Given the description of an element on the screen output the (x, y) to click on. 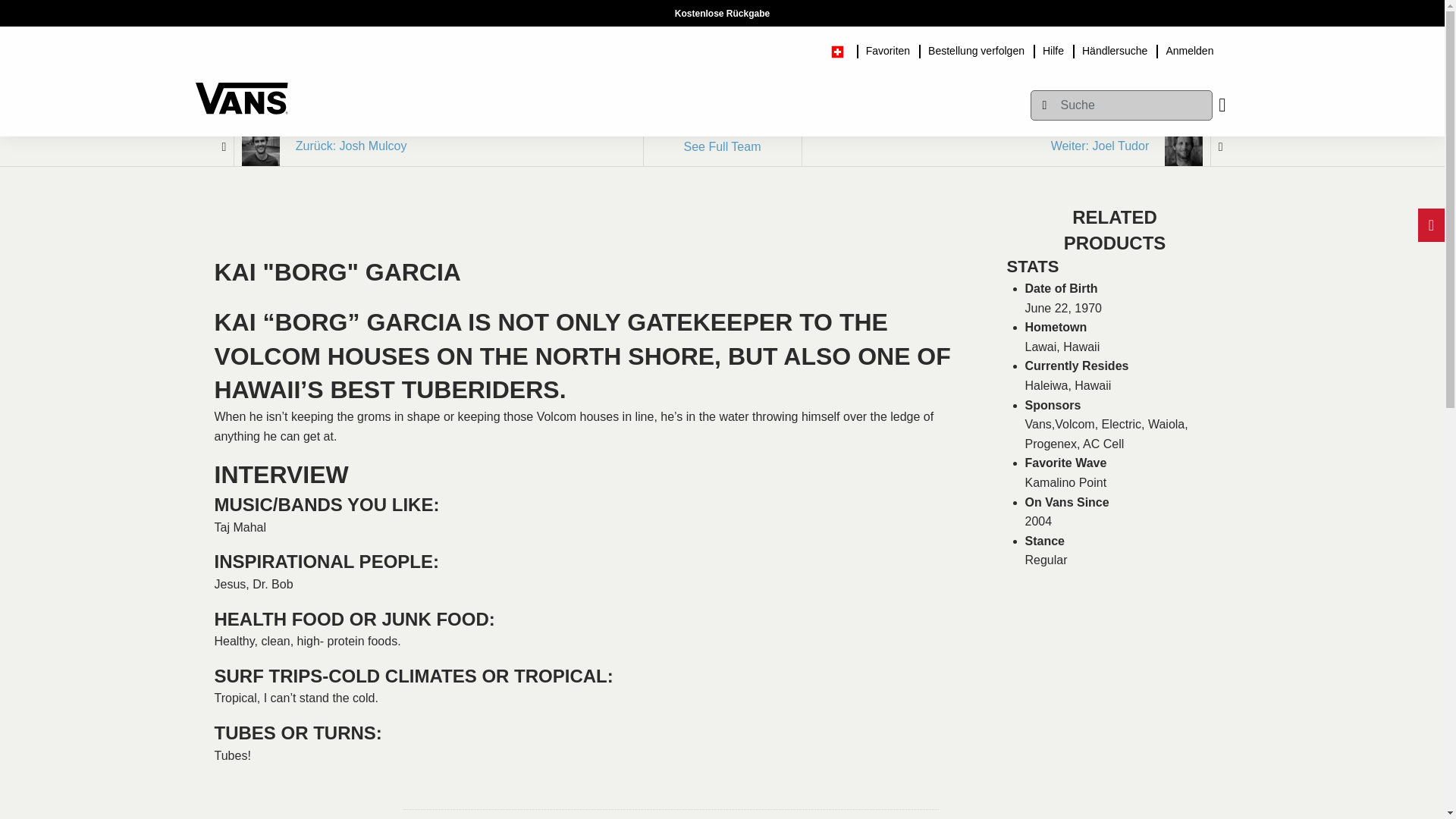
Hilfe (1053, 48)
Bestellung verfolgen (975, 48)
Bestellung verfolgen (975, 48)
Favoriten (887, 48)
Anmelden (1189, 48)
Vans (241, 91)
Hilfe (1053, 48)
Switzerland (842, 48)
Anmelden (1189, 48)
